Given the description of an element on the screen output the (x, y) to click on. 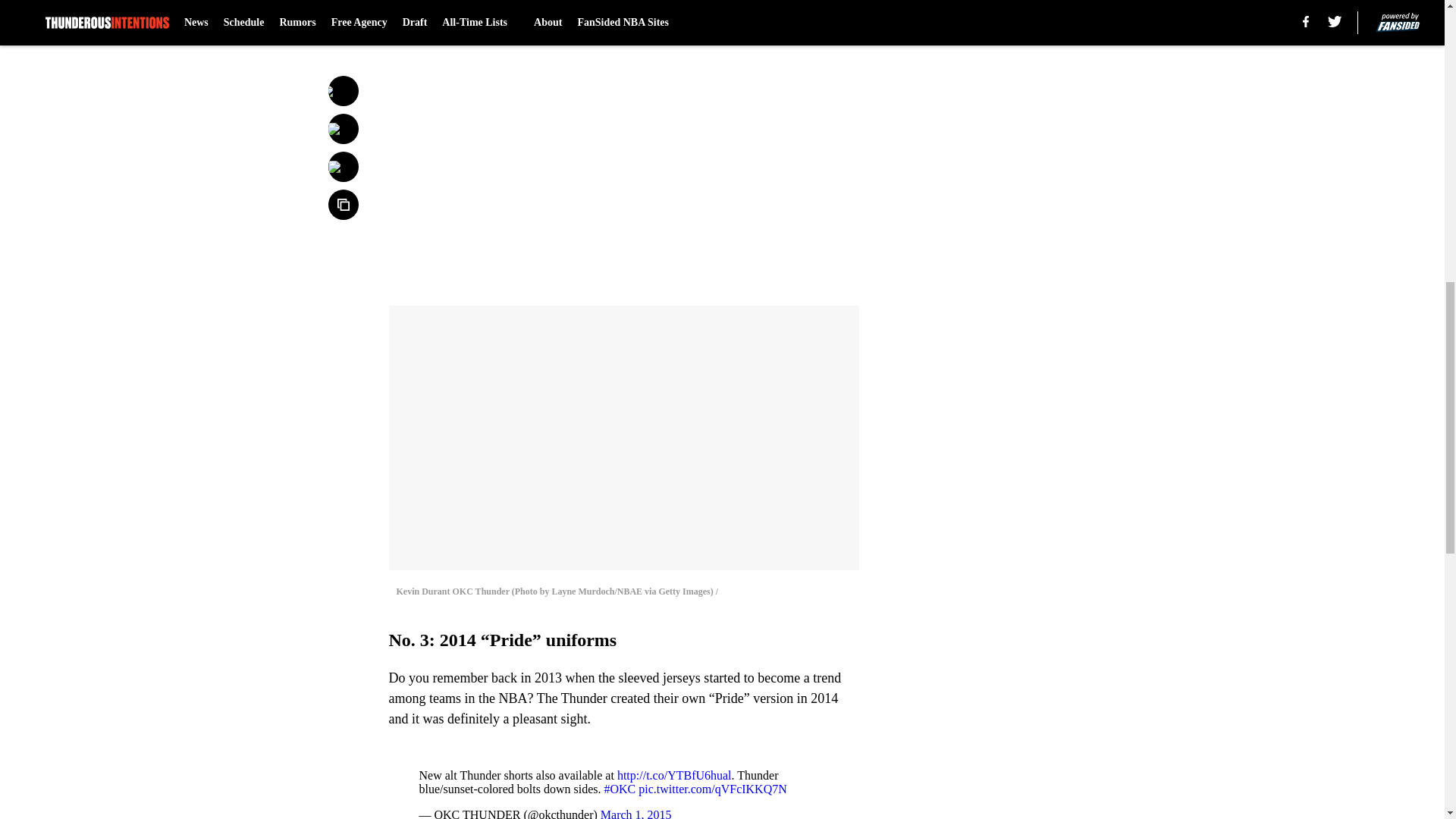
March 1, 2015 (635, 813)
Prev (433, 5)
Next (813, 5)
